Given the description of an element on the screen output the (x, y) to click on. 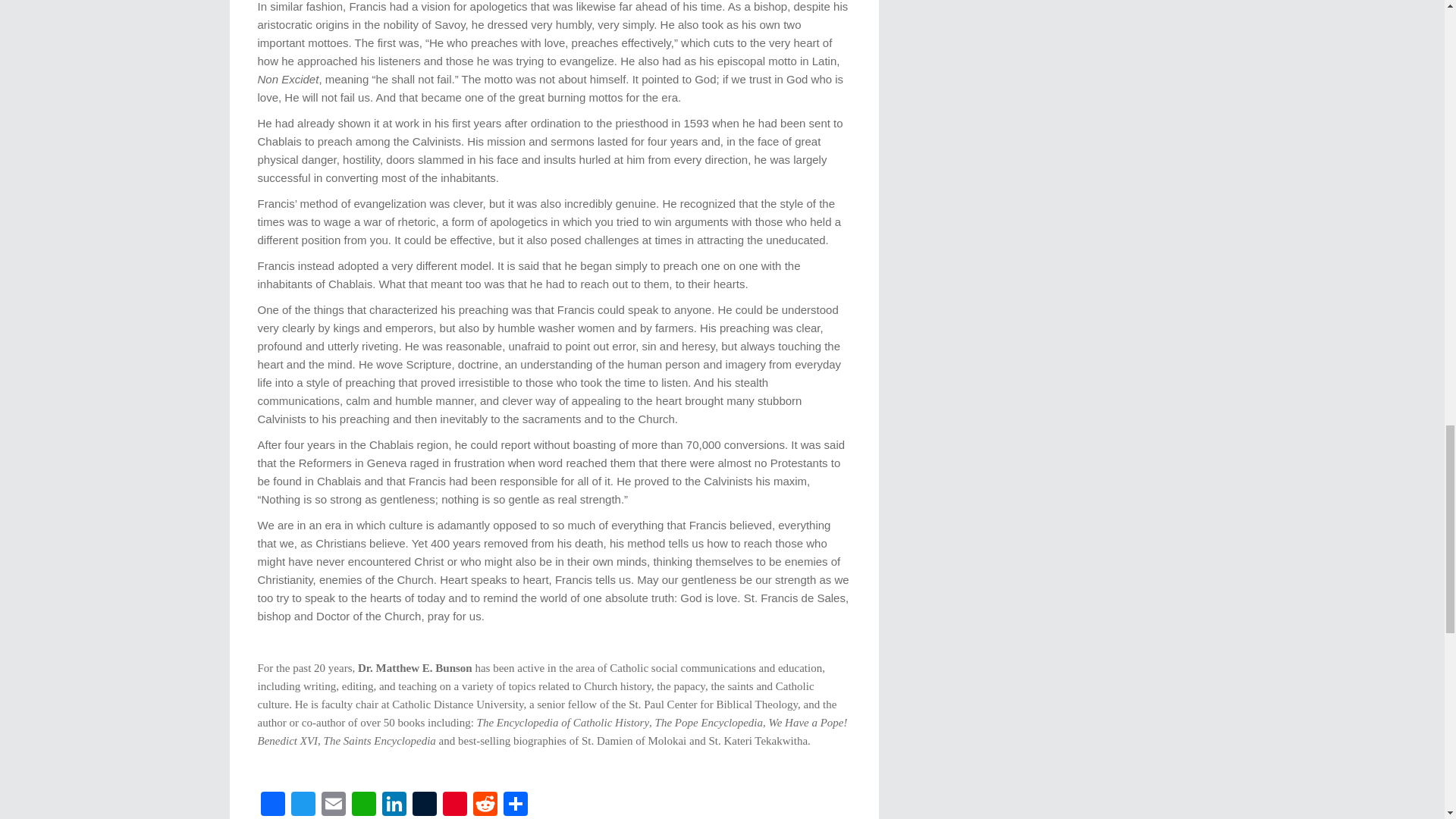
Twitter (303, 805)
WhatsApp (363, 805)
LinkedIn (393, 805)
Pinterest (454, 805)
Reddit (485, 805)
Tumblr (424, 805)
Facebook (272, 805)
Email (333, 805)
